Given the description of an element on the screen output the (x, y) to click on. 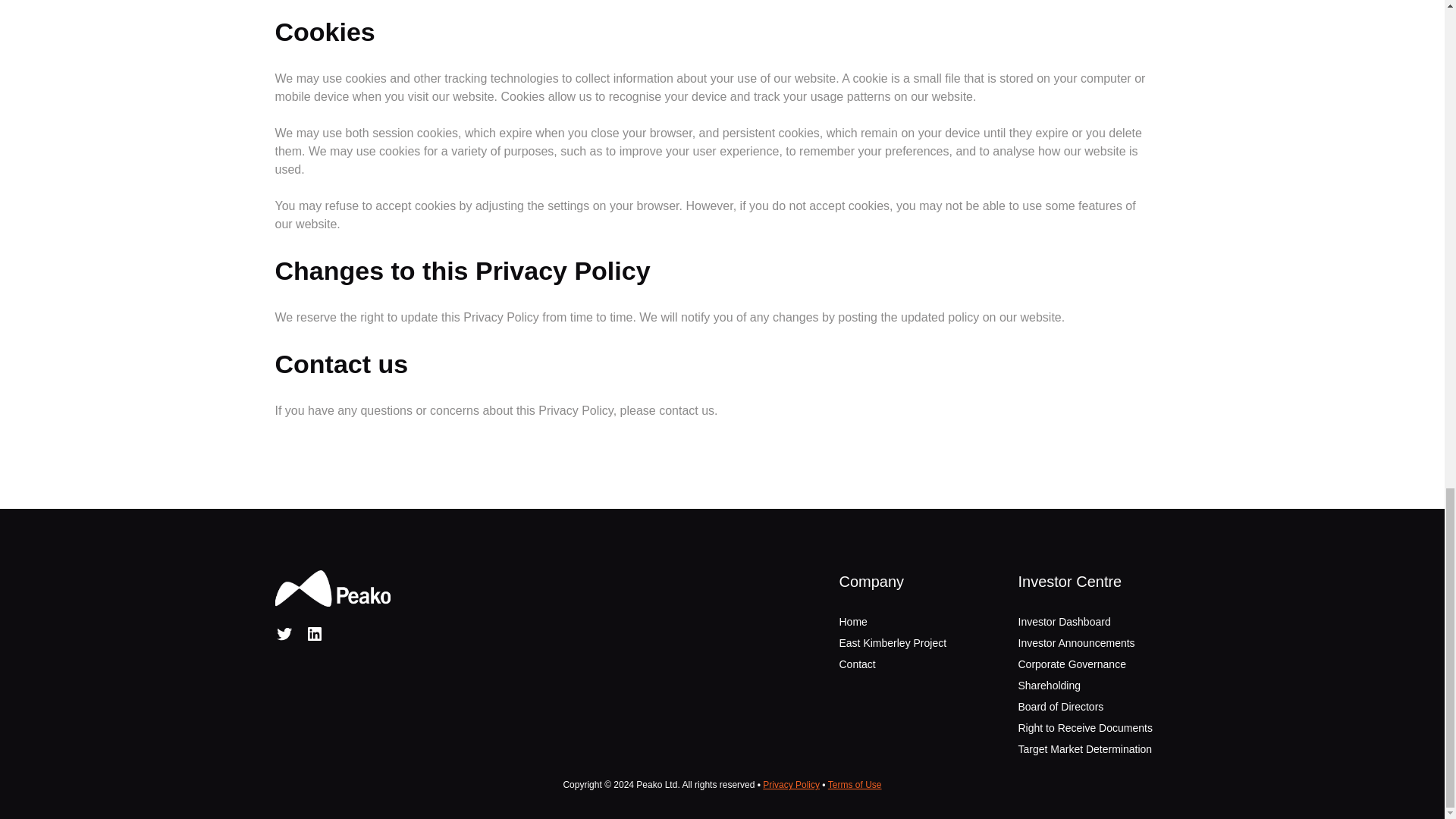
Target Market Determination (1084, 748)
Privacy Policy (790, 784)
Investor Announcements (1075, 643)
Investor Dashboard (1063, 621)
Twitter (283, 633)
Contact (856, 664)
Right to Receive Documents (1084, 727)
Shareholding (1048, 685)
LinkedIn (313, 633)
Terms of Use (855, 784)
